Given the description of an element on the screen output the (x, y) to click on. 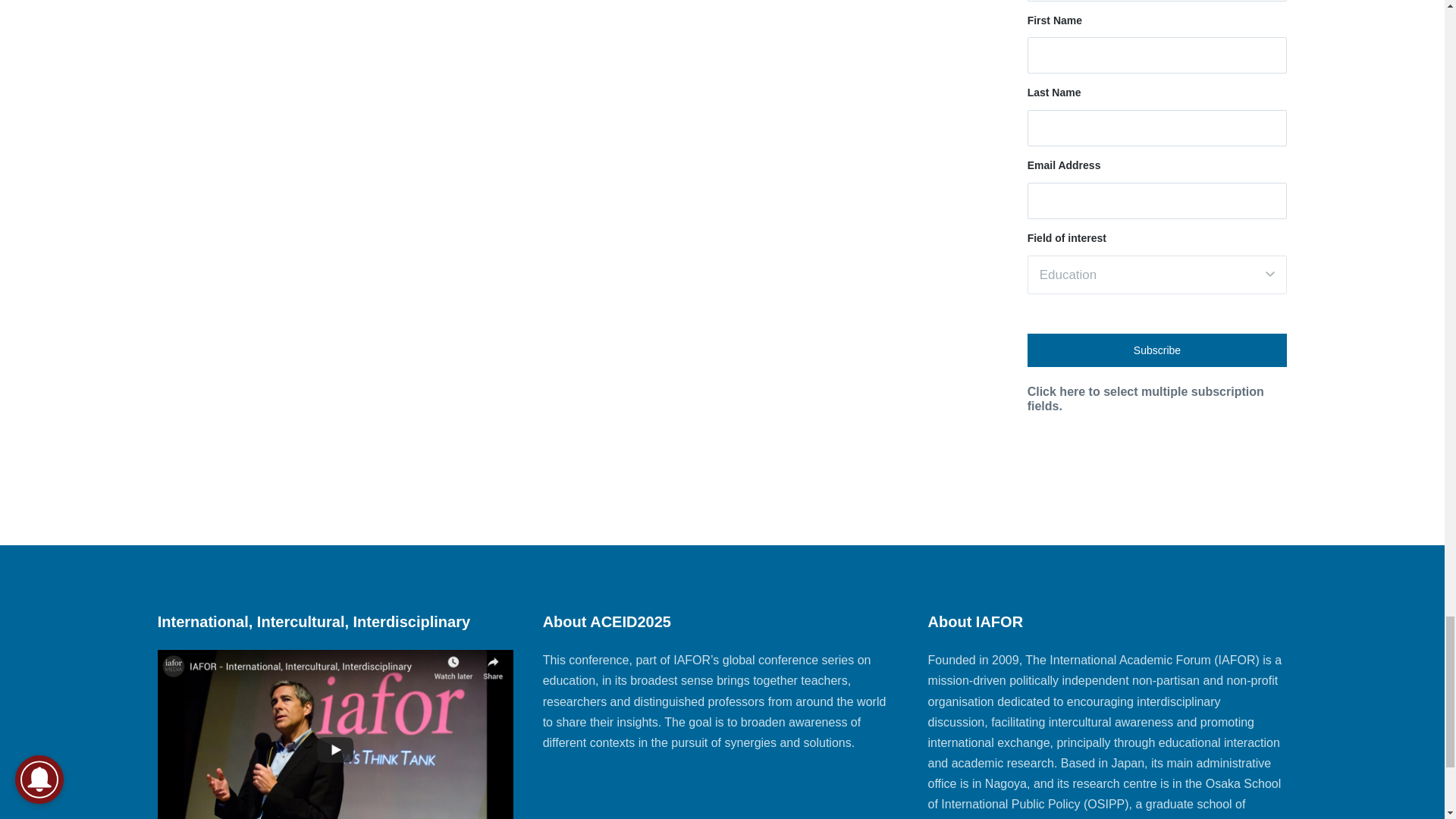
Subscribe (1157, 349)
